Given the description of an element on the screen output the (x, y) to click on. 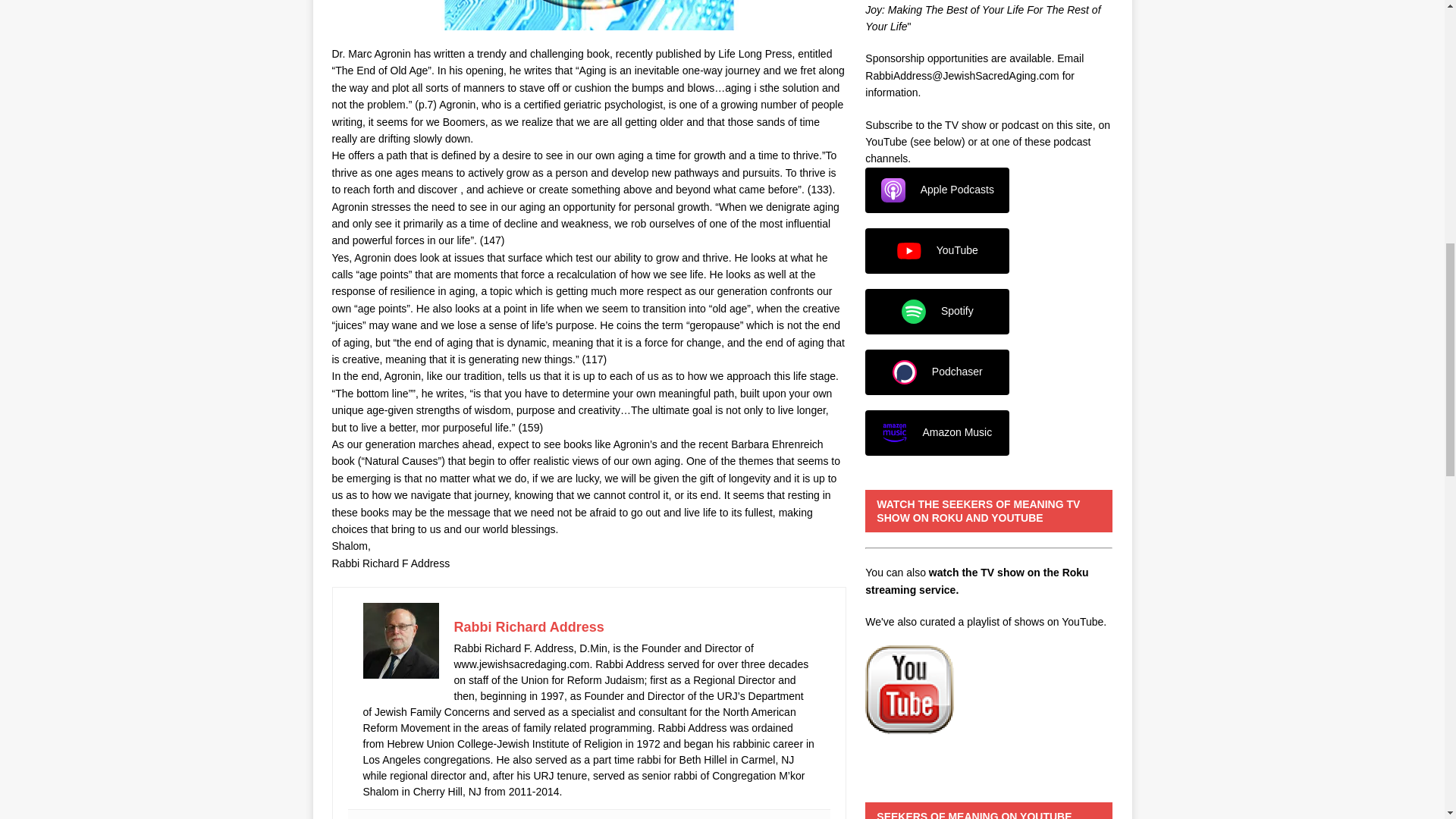
Taradash-TimeBanner (588, 15)
